Given the description of an element on the screen output the (x, y) to click on. 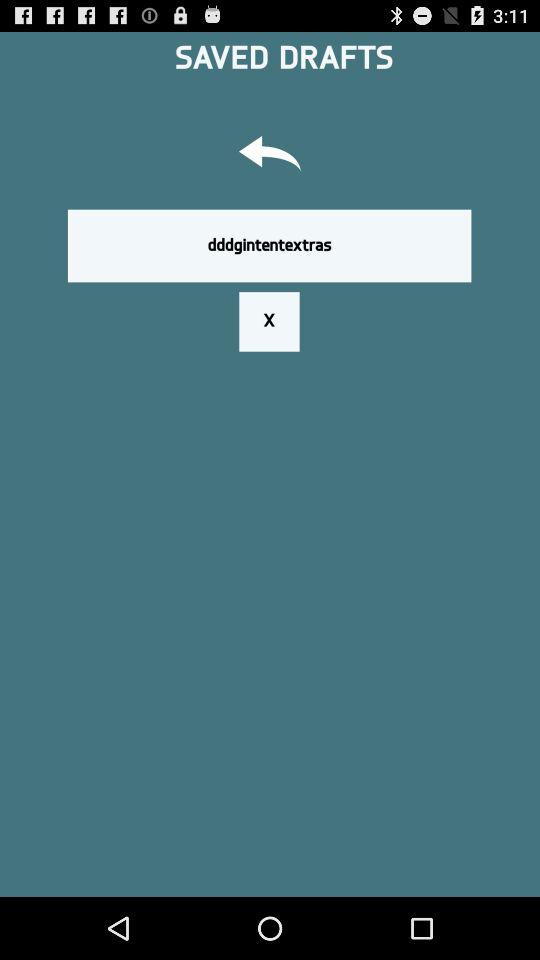
choose button above the x icon (269, 245)
